Given the description of an element on the screen output the (x, y) to click on. 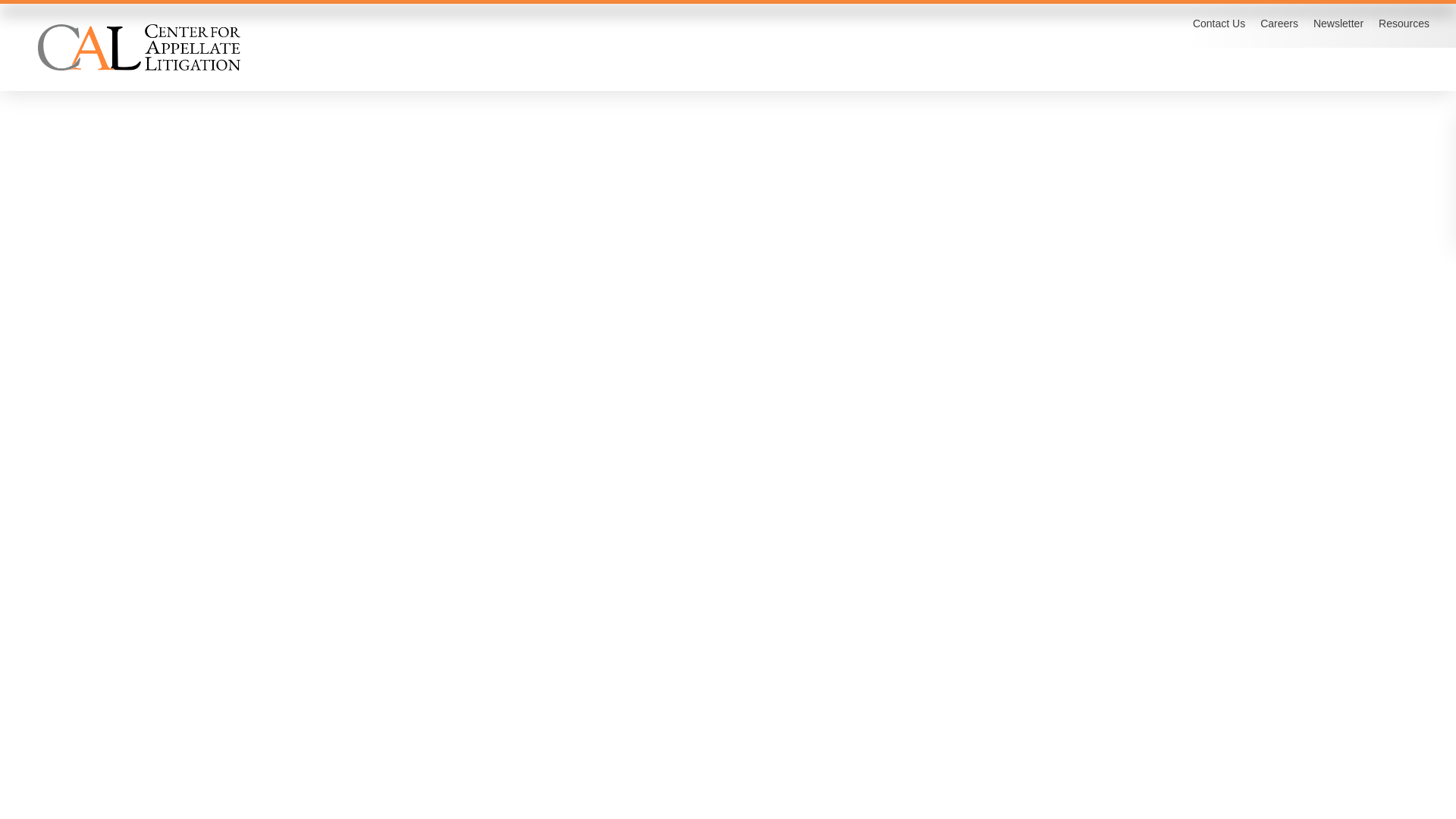
Careers (1279, 23)
Contact Us (1218, 23)
Resources (1403, 23)
Newsletter (1337, 23)
